Given the description of an element on the screen output the (x, y) to click on. 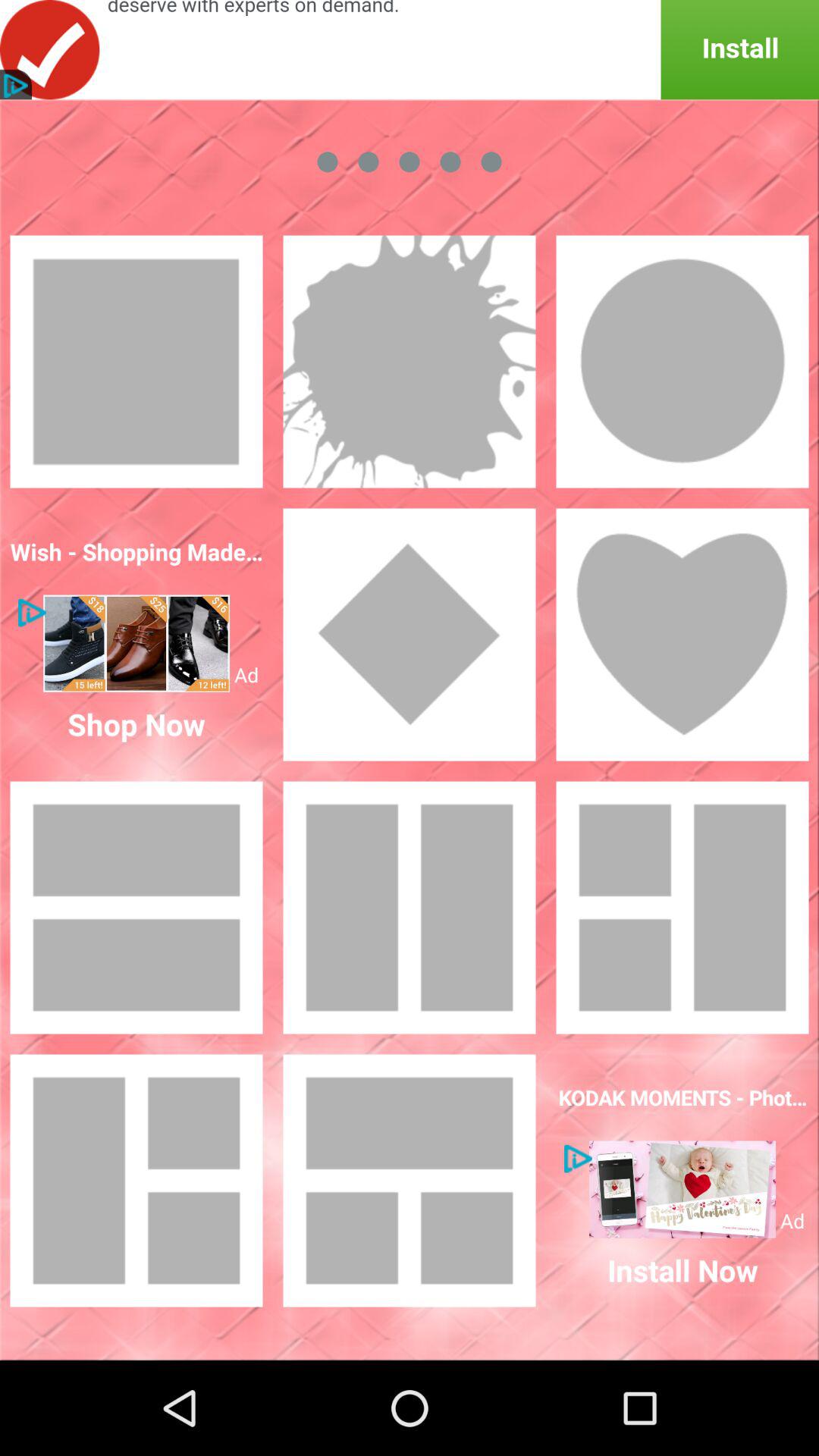
click box bottom left (136, 1180)
